Given the description of an element on the screen output the (x, y) to click on. 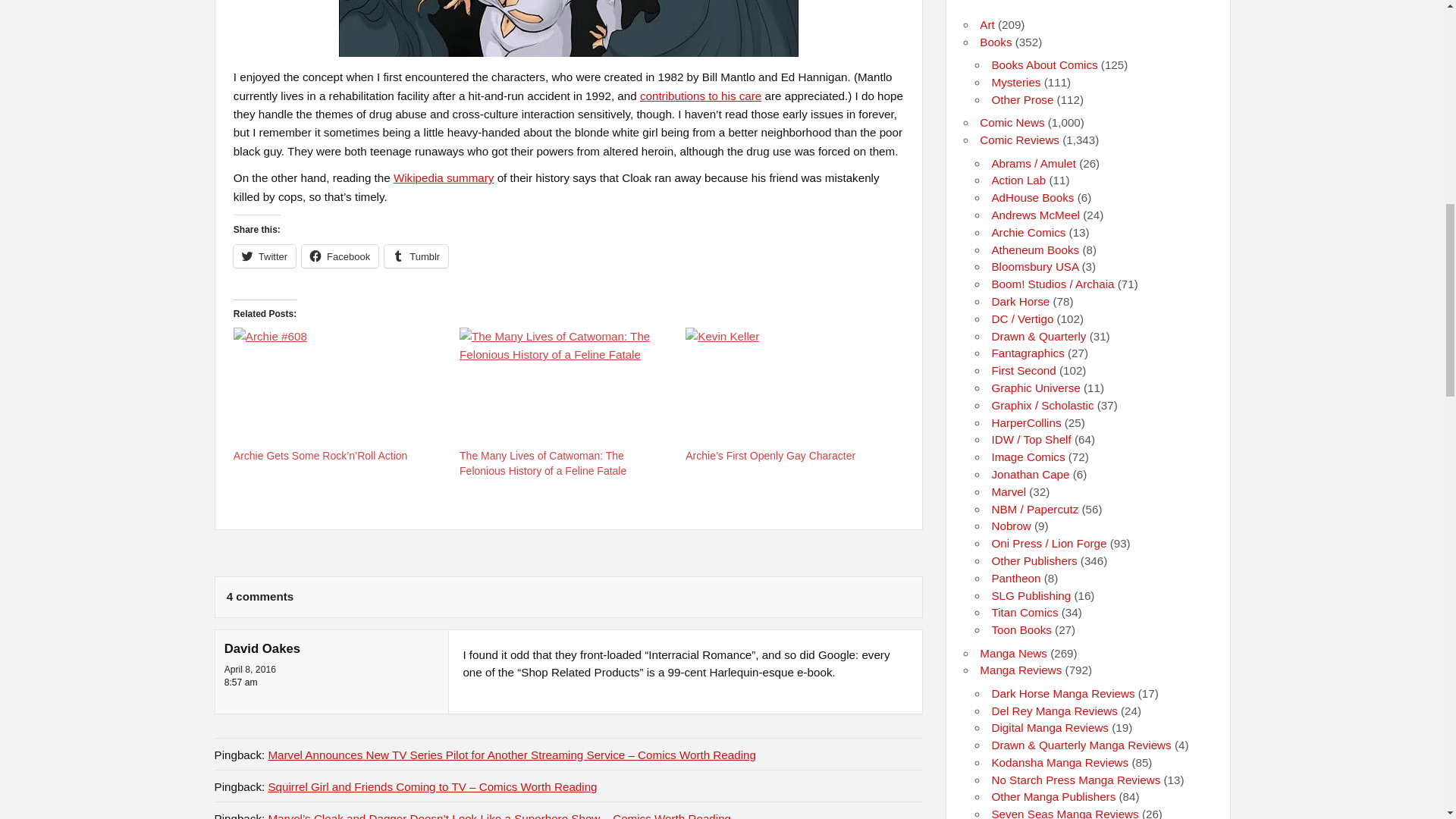
Facebook (339, 255)
Twitter (263, 255)
Wikipedia summary (444, 177)
Tumblr (416, 255)
Click to share on Facebook (339, 255)
Click to share on Tumblr (416, 255)
contributions to his care (700, 95)
